Given the description of an element on the screen output the (x, y) to click on. 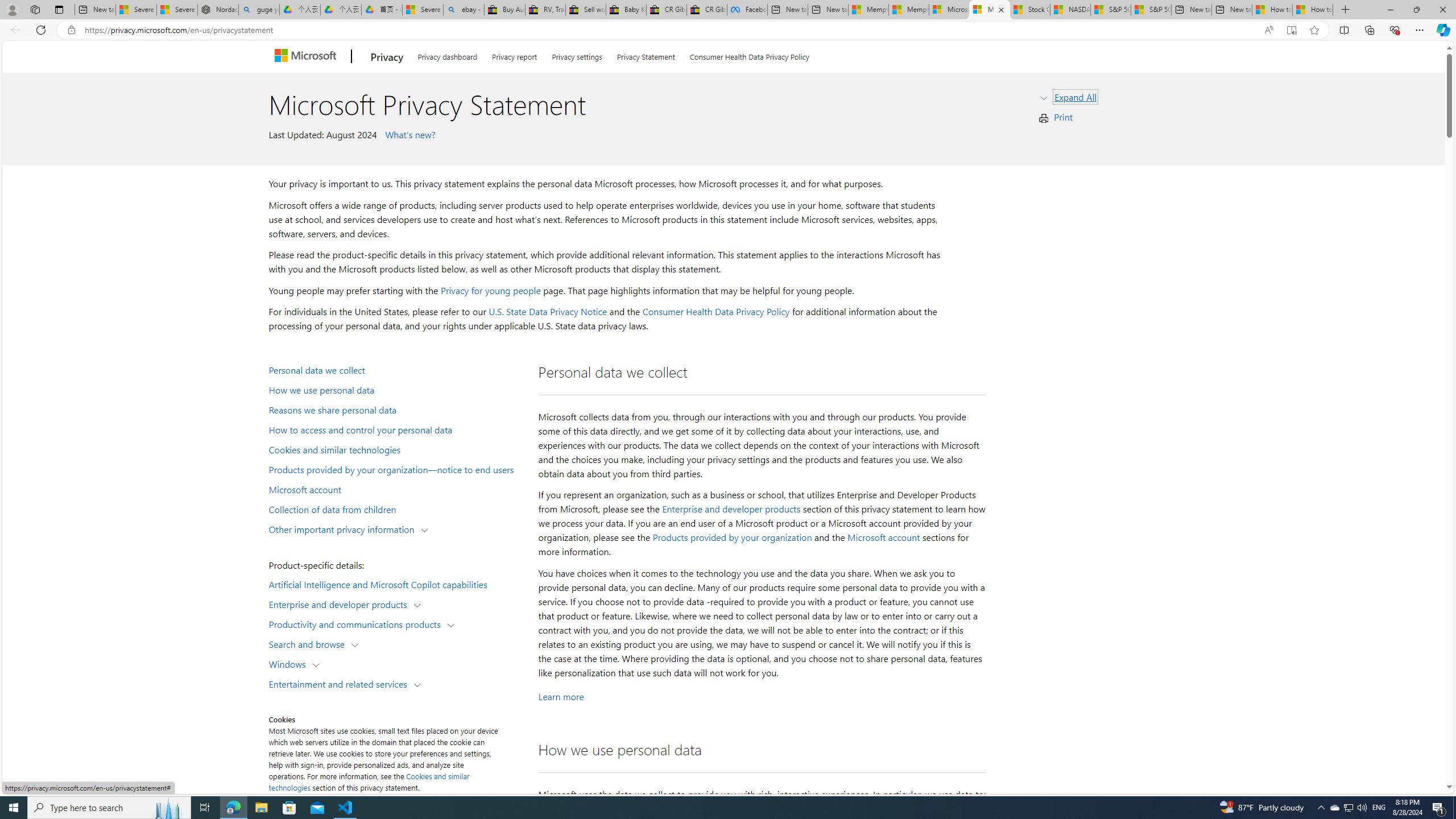
Microsoft account (395, 488)
Expand All (1075, 96)
Minimize (1390, 9)
 What's new? (408, 133)
Cookies and similar technologies (368, 780)
Enterprise and developer products (731, 508)
Buy Auto Parts & Accessories | eBay (504, 9)
ebay - Search (463, 9)
Nordace - Summer Adventures 2024 (217, 9)
Products provided by your organization (732, 537)
